Given the description of an element on the screen output the (x, y) to click on. 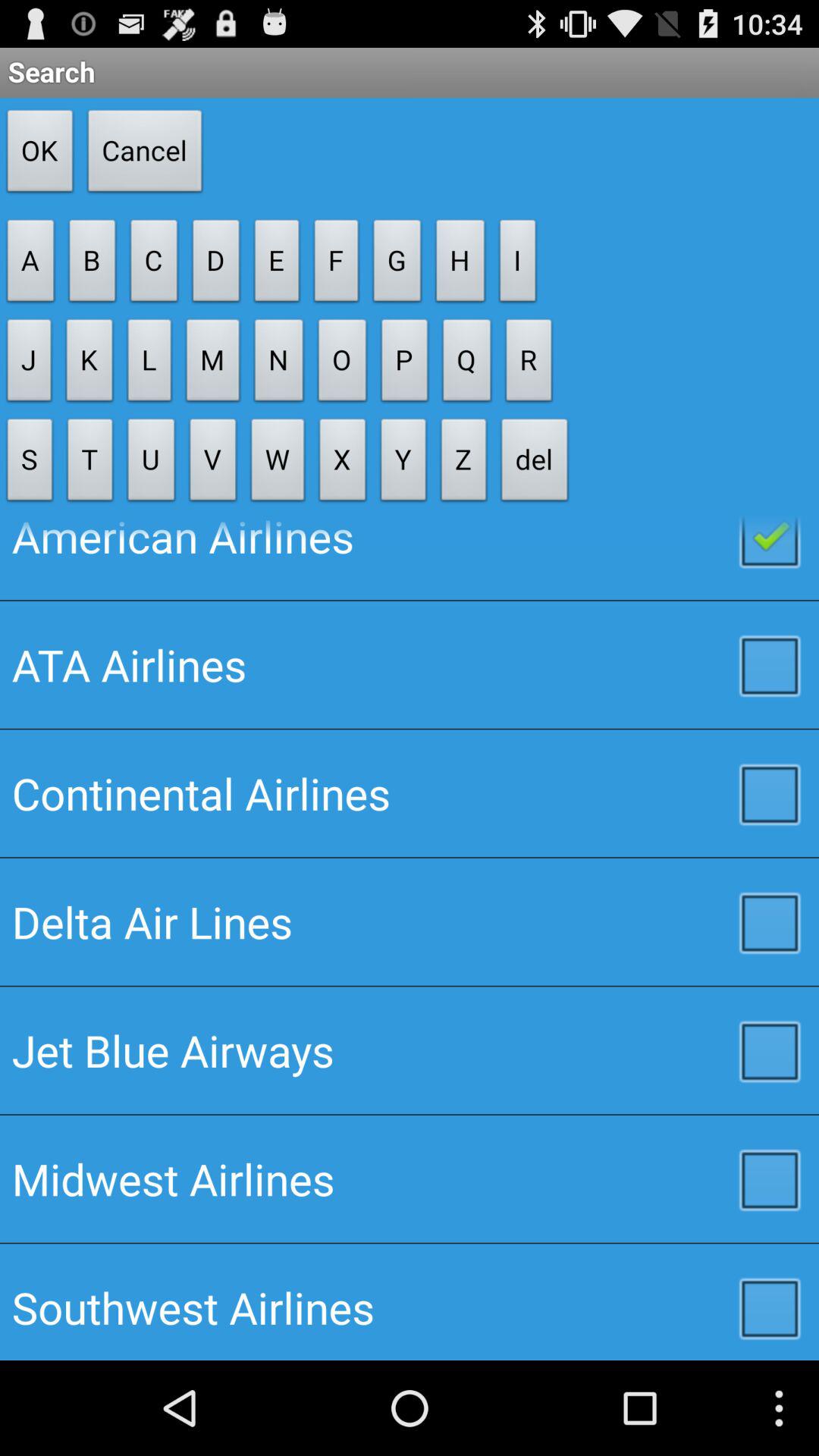
turn off item below the continental airlines checkbox (409, 921)
